Given the description of an element on the screen output the (x, y) to click on. 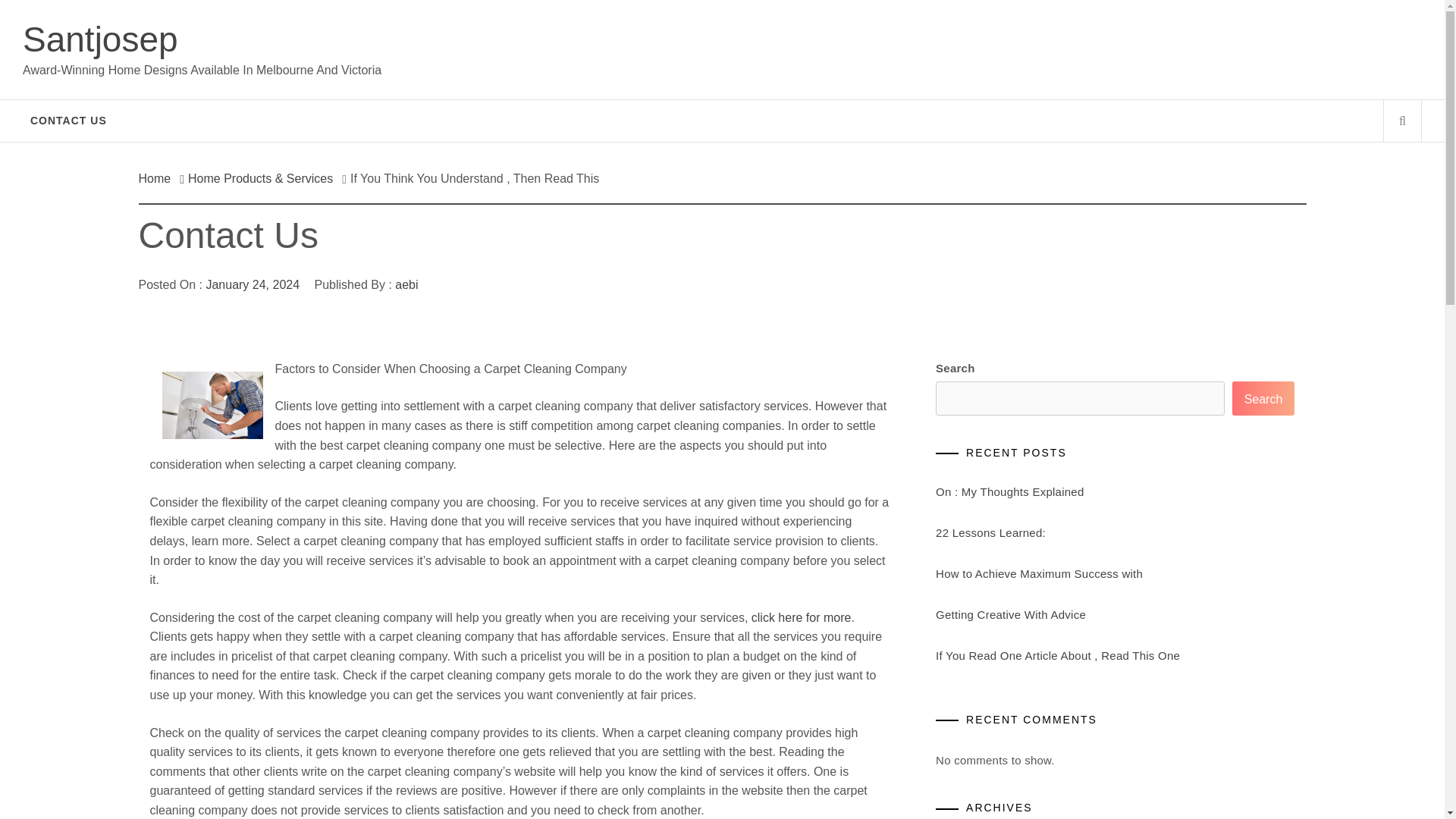
click here for more (799, 617)
CONTACT US (69, 120)
How to Achieve Maximum Success with (1039, 573)
January 24, 2024 (252, 284)
Home (158, 178)
22 Lessons Learned: (990, 532)
Santjosep (100, 38)
Getting Creative With Advice (1011, 614)
Search (797, 37)
Search (1263, 398)
If You Read One Article About , Read This One (1057, 655)
On : My Thoughts Explained (1010, 491)
aebi (405, 284)
